Given the description of an element on the screen output the (x, y) to click on. 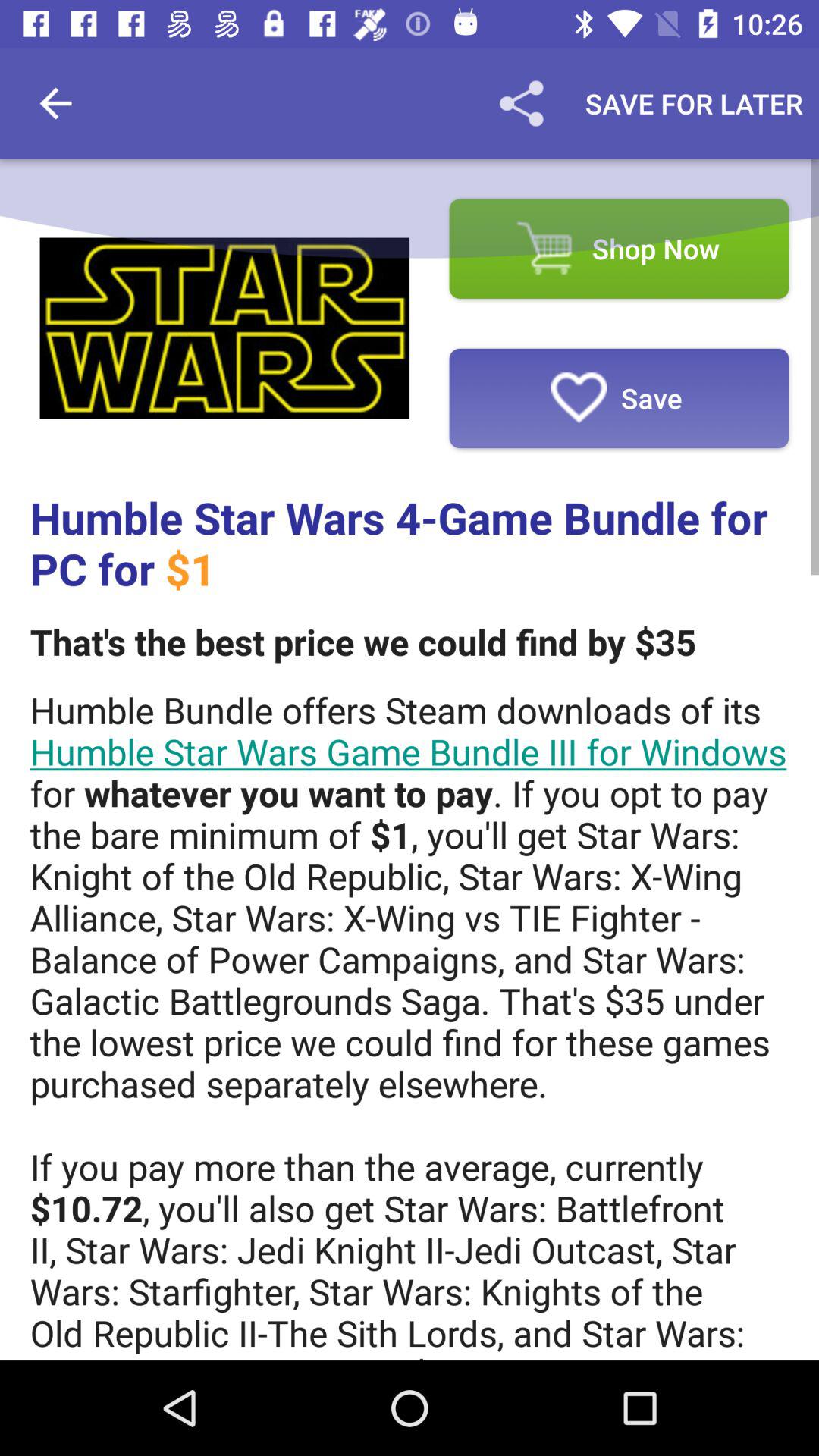
press item above save icon (618, 248)
